Given the description of an element on the screen output the (x, y) to click on. 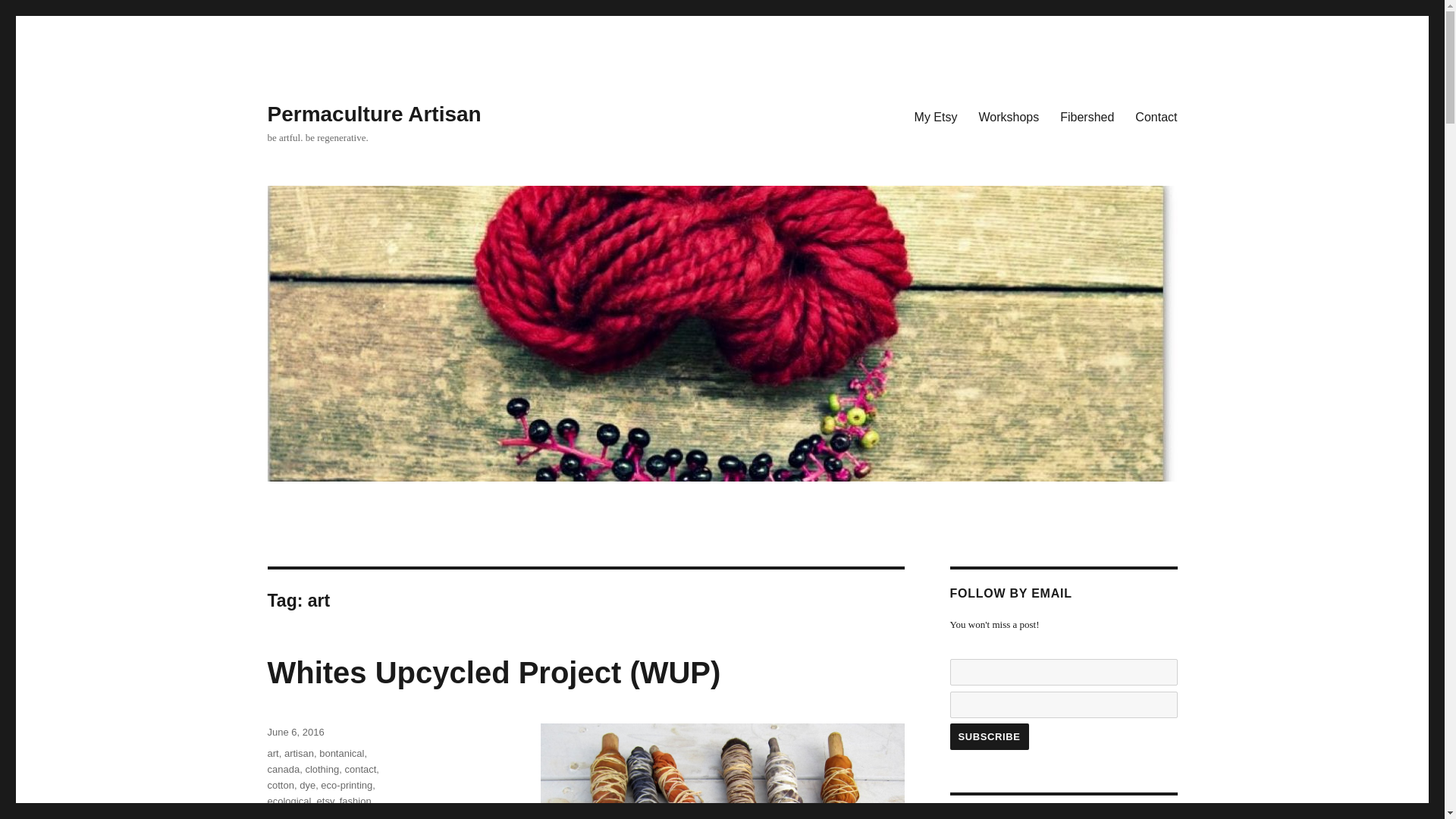
Workshops (1008, 116)
art (272, 753)
Permaculture Artisan (373, 114)
contact (359, 768)
My Etsy (936, 116)
Fibershed (1086, 116)
clothing (321, 768)
Contact (1156, 116)
artisan (298, 753)
canada (282, 768)
